Given the description of an element on the screen output the (x, y) to click on. 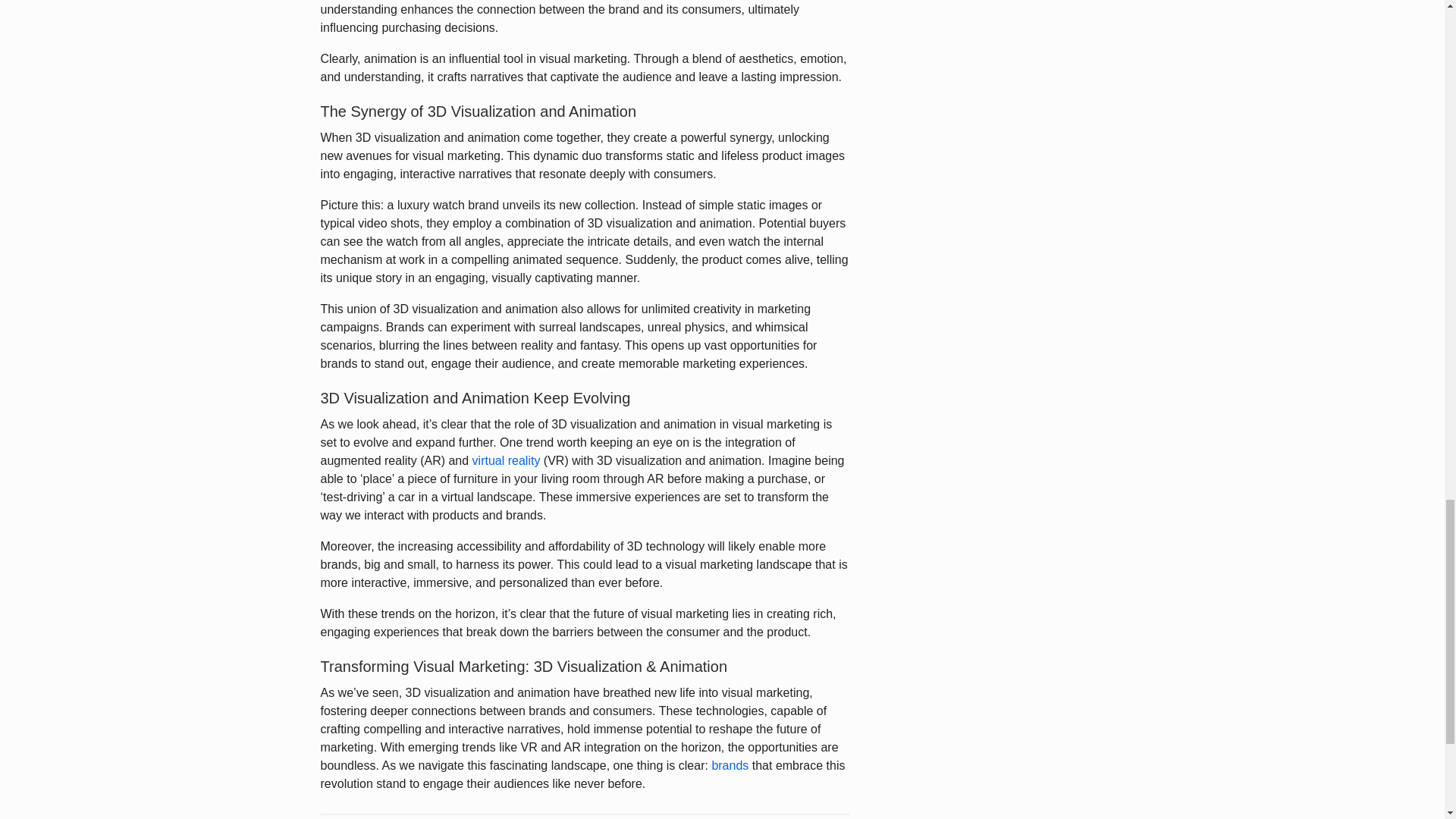
brands (729, 765)
virtual reality (505, 460)
